Given the description of an element on the screen output the (x, y) to click on. 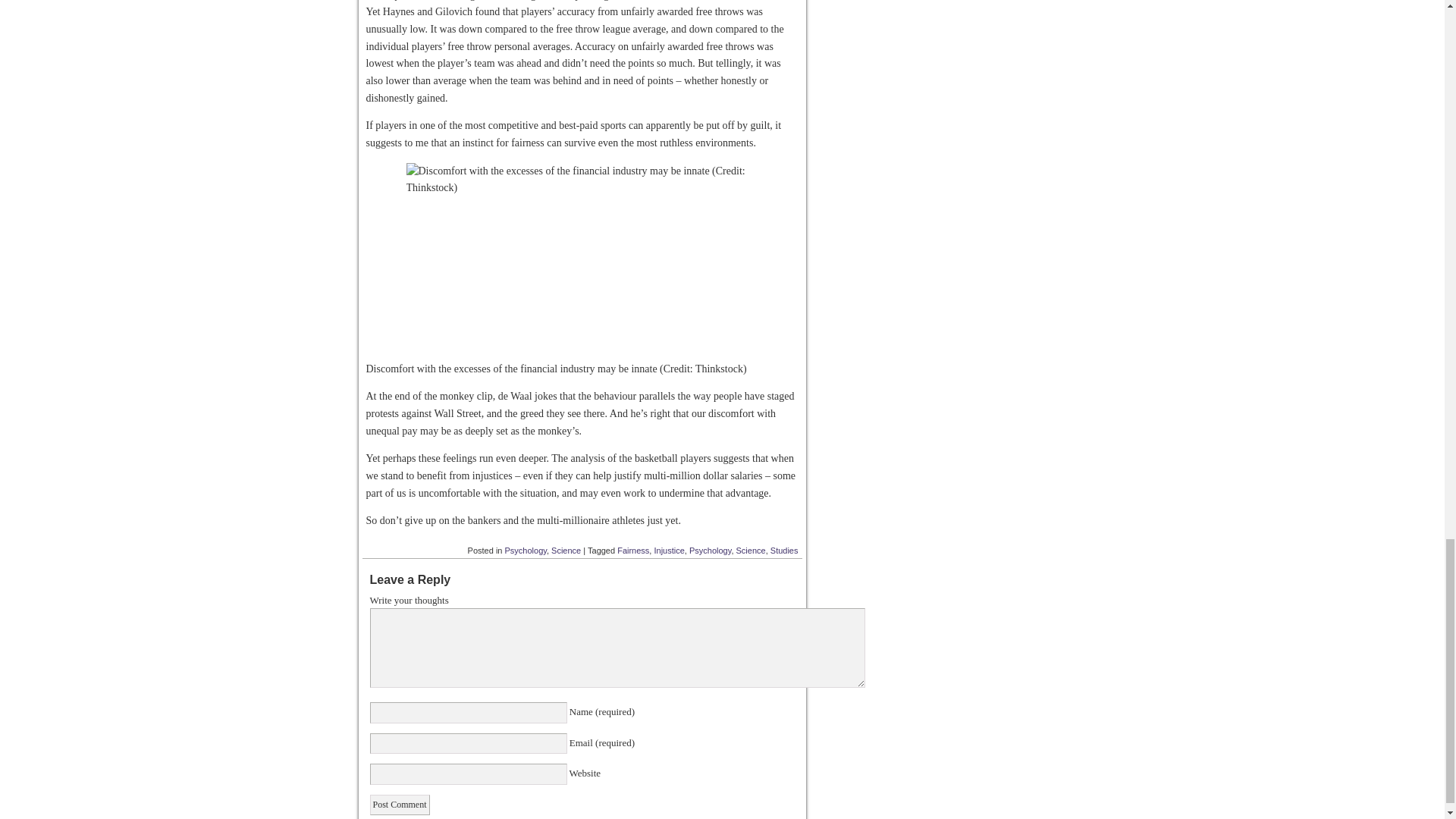
Injustice (668, 550)
Post Comment (399, 804)
Science (565, 550)
Psychology (526, 550)
Fairness (633, 550)
Post Comment (399, 804)
Psychology (709, 550)
Studies (783, 550)
Science (750, 550)
